Given the description of an element on the screen output the (x, y) to click on. 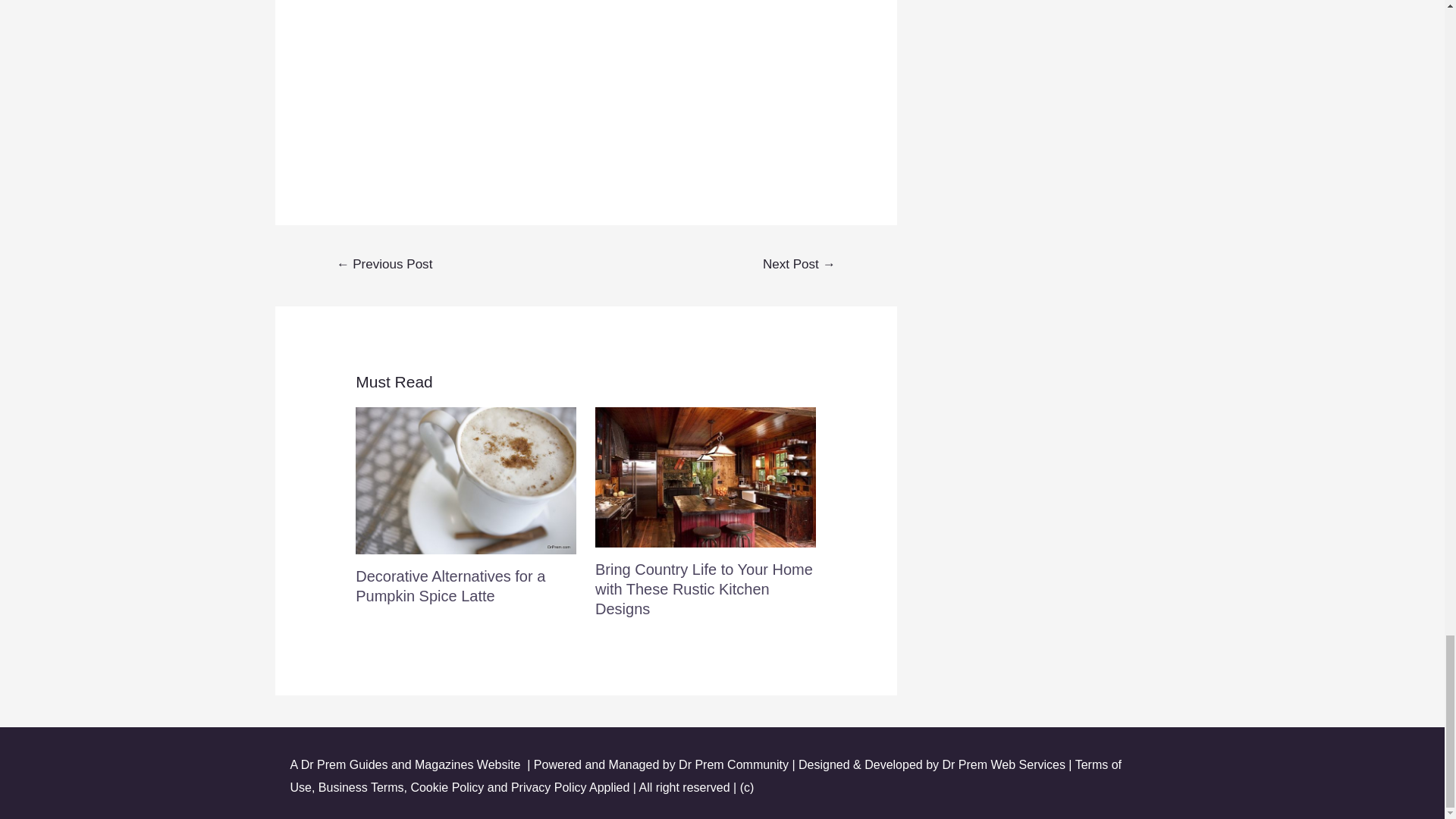
Decorative Alternatives for a Pumpkin Spice Latte (449, 586)
